Given the description of an element on the screen output the (x, y) to click on. 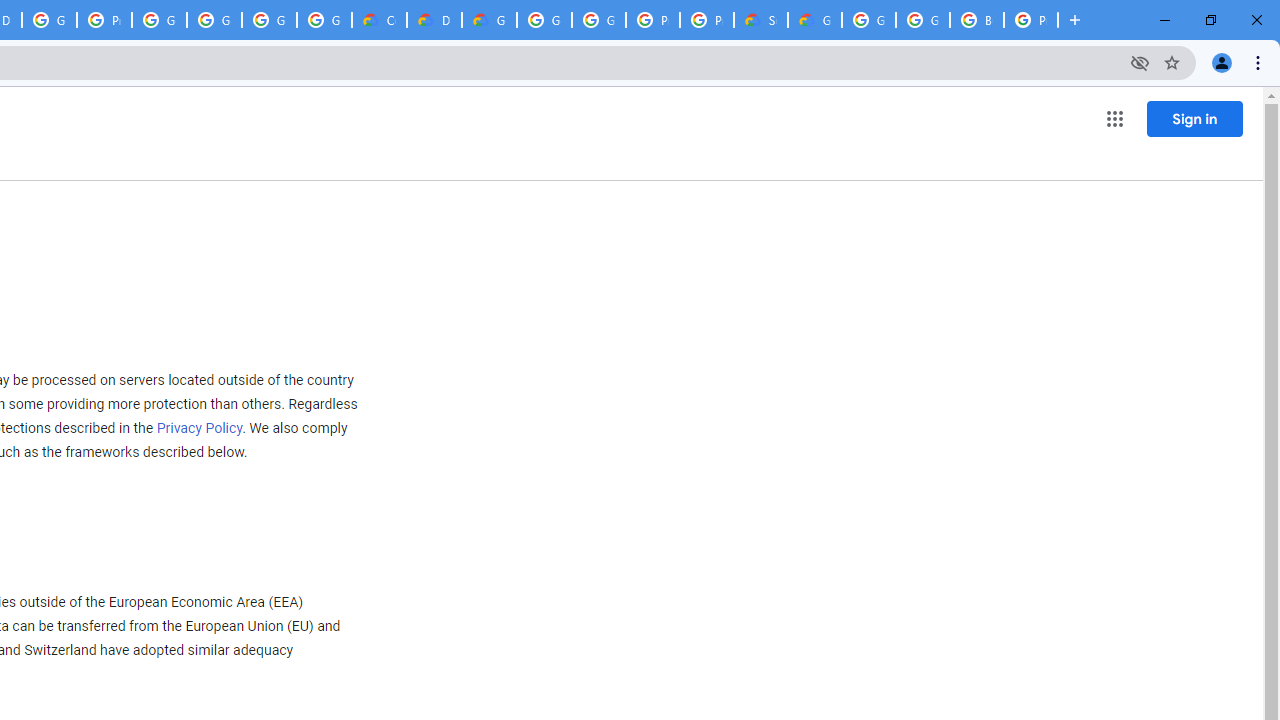
Google Workspace - Specific Terms (324, 20)
Support Hub | Google Cloud (760, 20)
Google Cloud Service Health (815, 20)
